Given the description of an element on the screen output the (x, y) to click on. 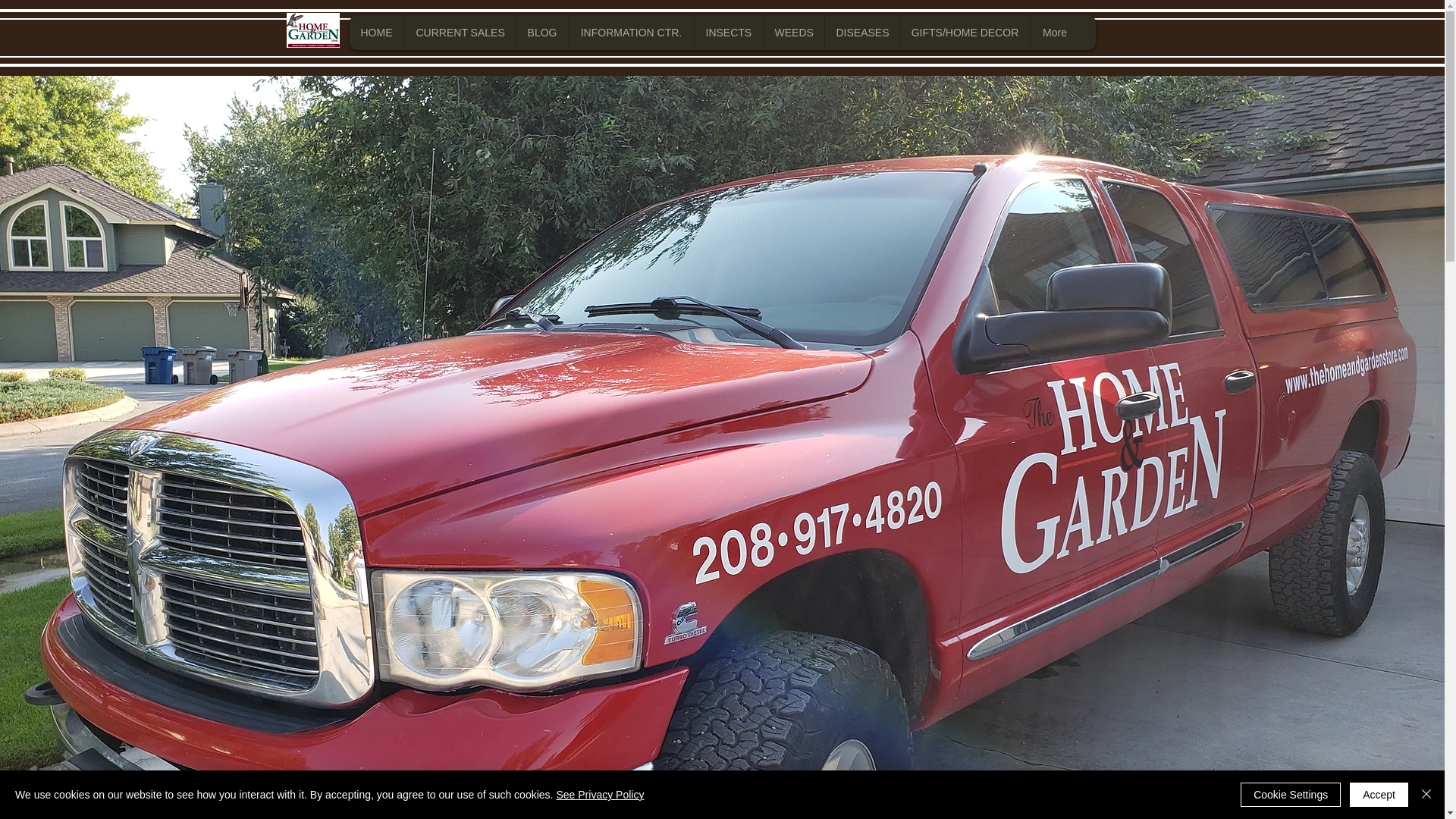
logo (312, 30)
WEEDS (793, 32)
DISEASES (861, 32)
HOME (376, 32)
CURRENT SALES (459, 32)
INFORMATION CTR. (631, 32)
BLOG (542, 32)
INSECTS (727, 32)
Online Store (1007, 143)
